Given the description of an element on the screen output the (x, y) to click on. 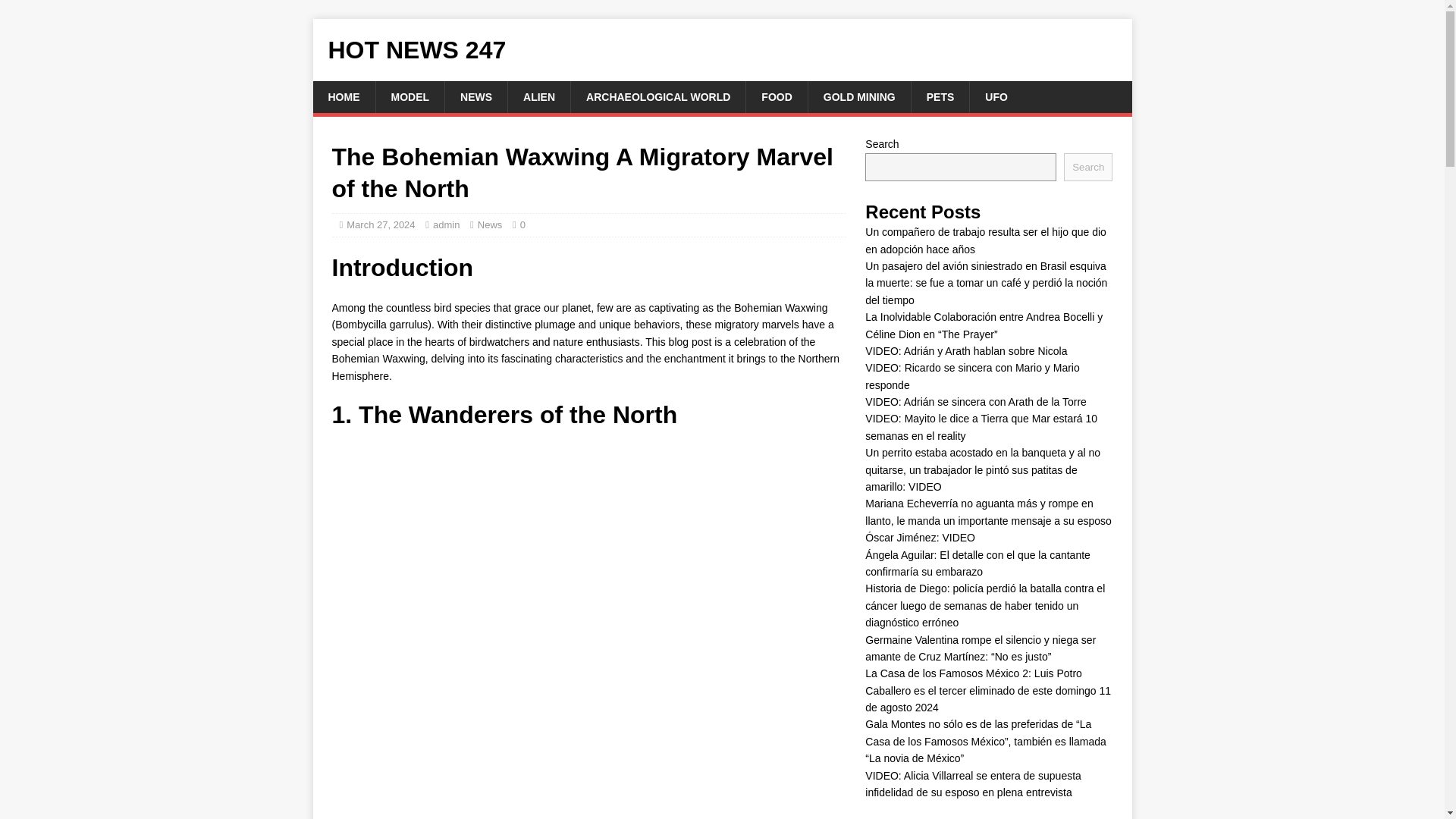
MODEL (409, 97)
admin (446, 224)
HOT NEWS 247 (721, 49)
HOME (343, 97)
ARCHAEOLOGICAL WORLD (657, 97)
ALIEN (538, 97)
Search (1088, 166)
UFO (996, 97)
March 27, 2024 (380, 224)
NEWS (475, 97)
